Given the description of an element on the screen output the (x, y) to click on. 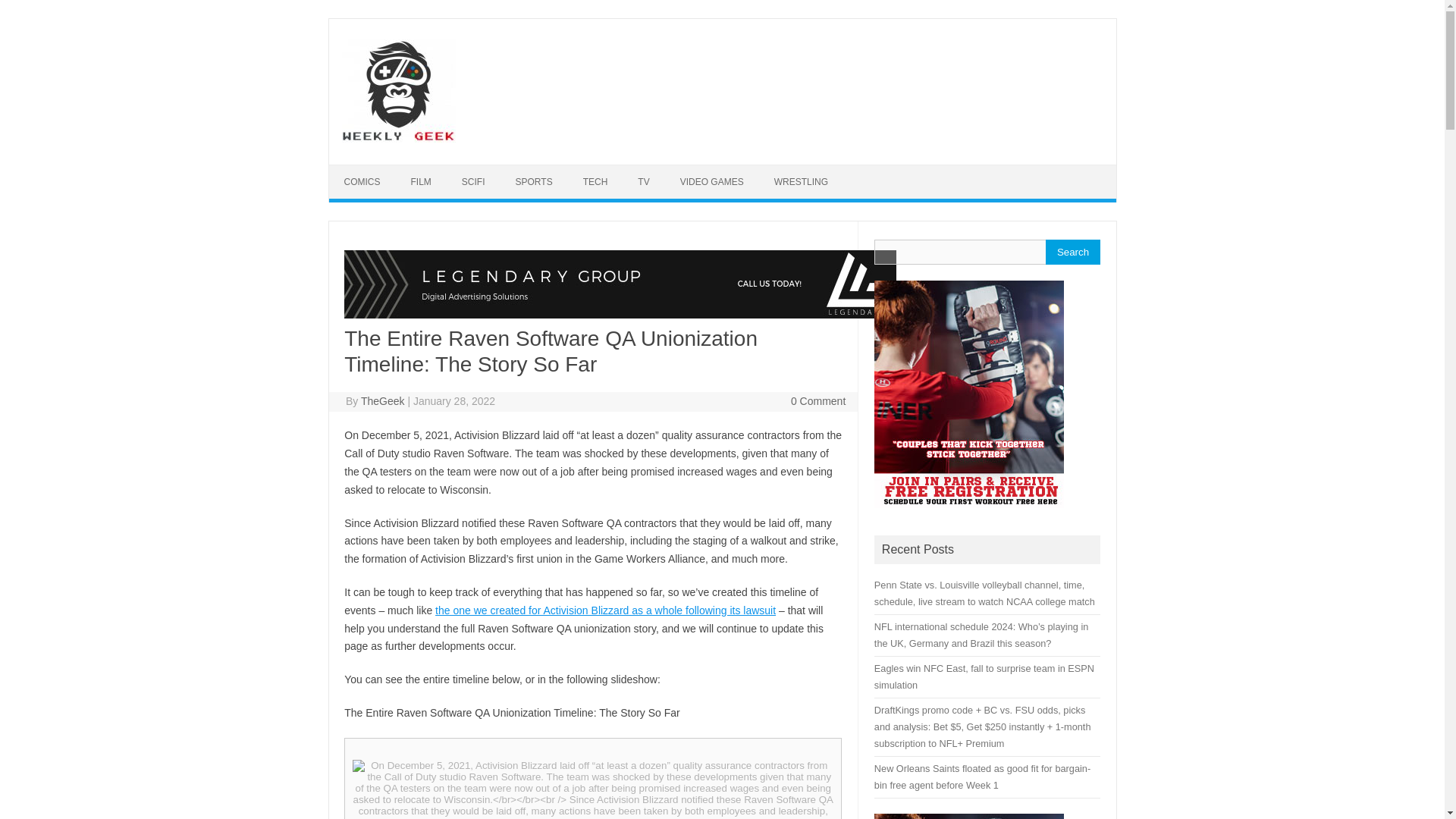
Search (1072, 251)
COMICS (362, 182)
SCIFI (473, 182)
0 Comment (817, 400)
WRESTLING (800, 182)
TECH (595, 182)
SPORTS (533, 182)
Posts by TheGeek (382, 400)
